Given the description of an element on the screen output the (x, y) to click on. 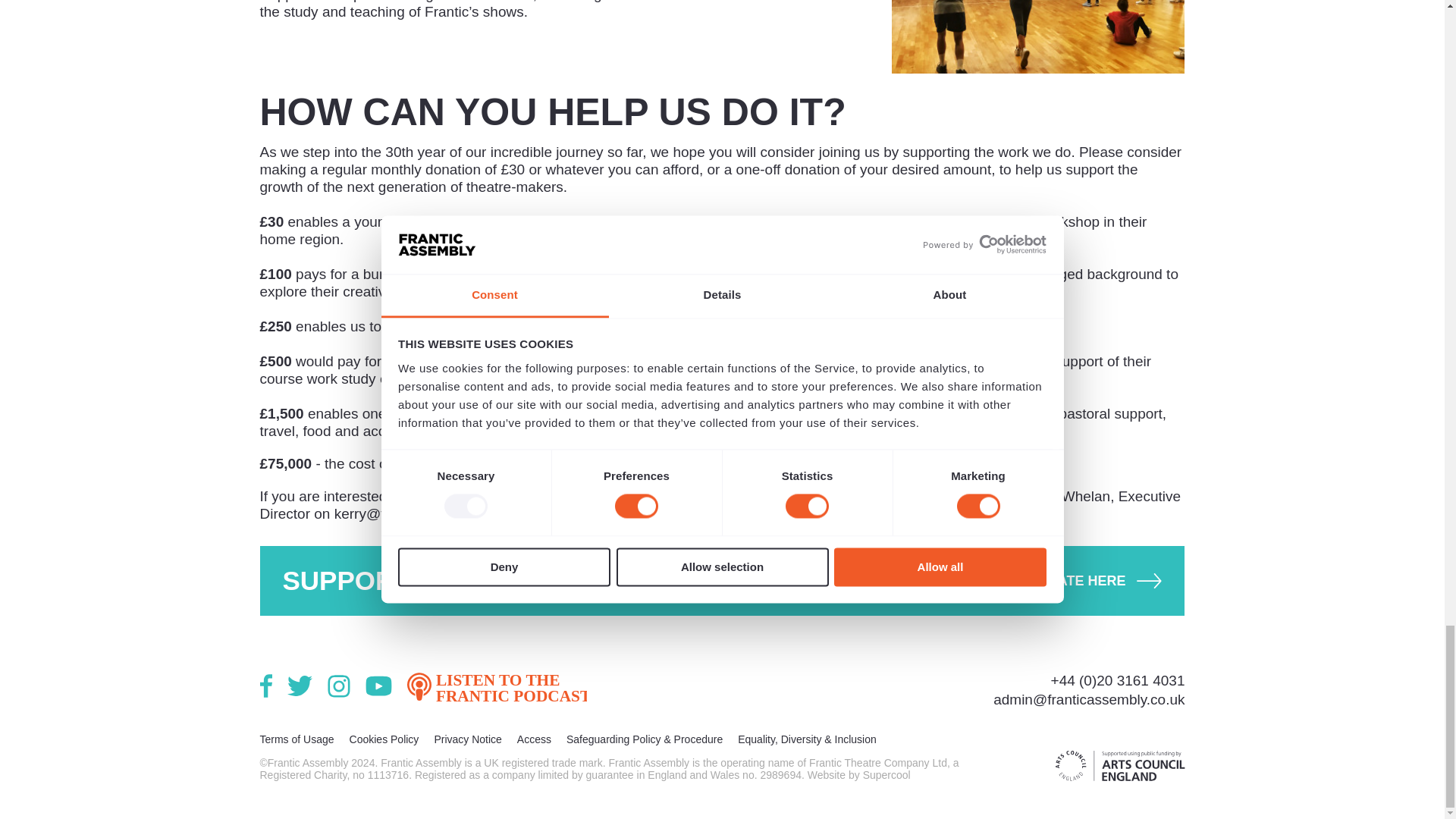
LISTEN TO THE FRANTIC PODCAST (496, 686)
